Given the description of an element on the screen output the (x, y) to click on. 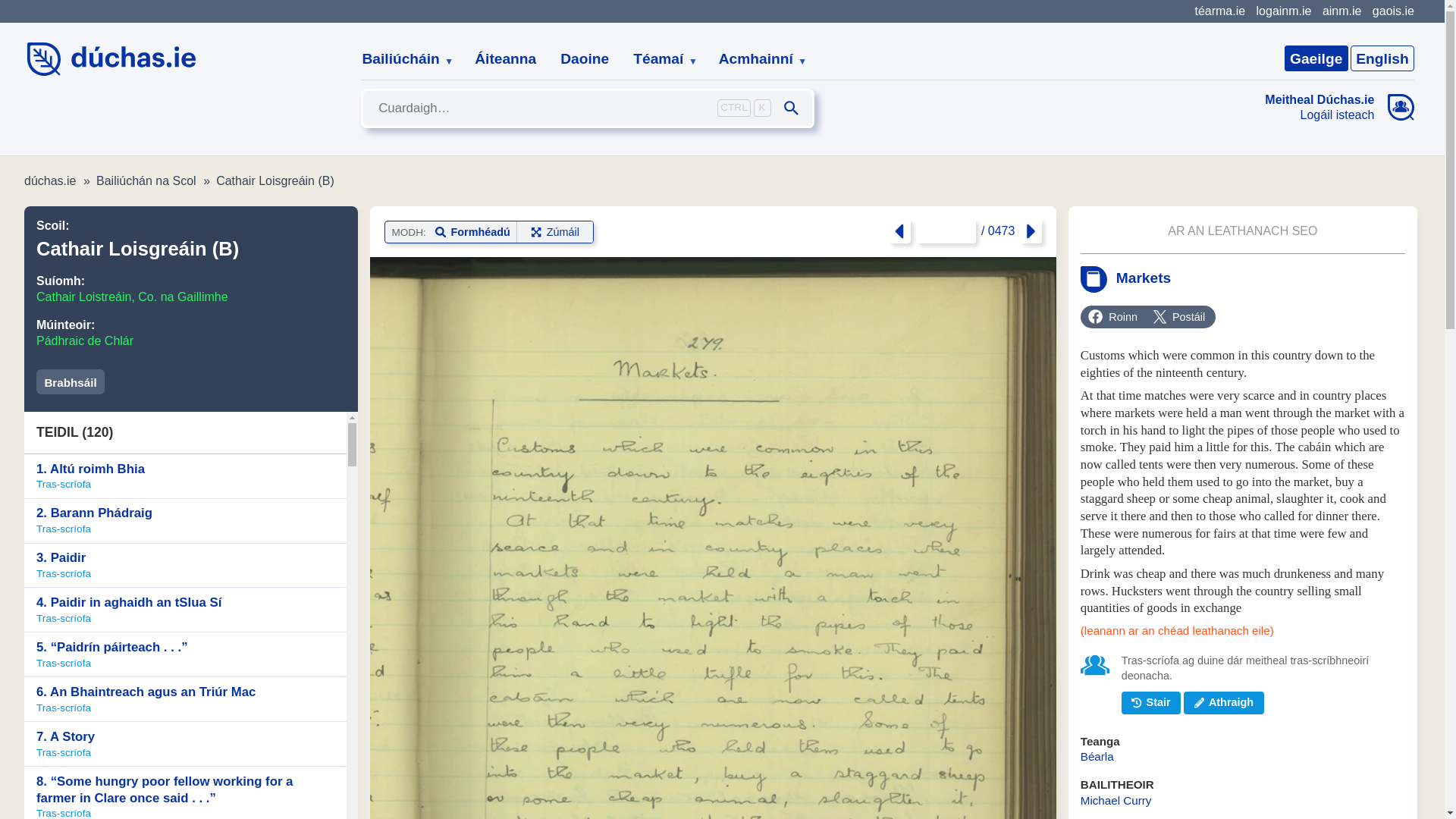
ainm.ie (1341, 11)
gaois.ie (1393, 11)
Daoine (584, 58)
logainm.ie (1283, 11)
English (1382, 58)
Gaeilge (1316, 58)
